Given the description of an element on the screen output the (x, y) to click on. 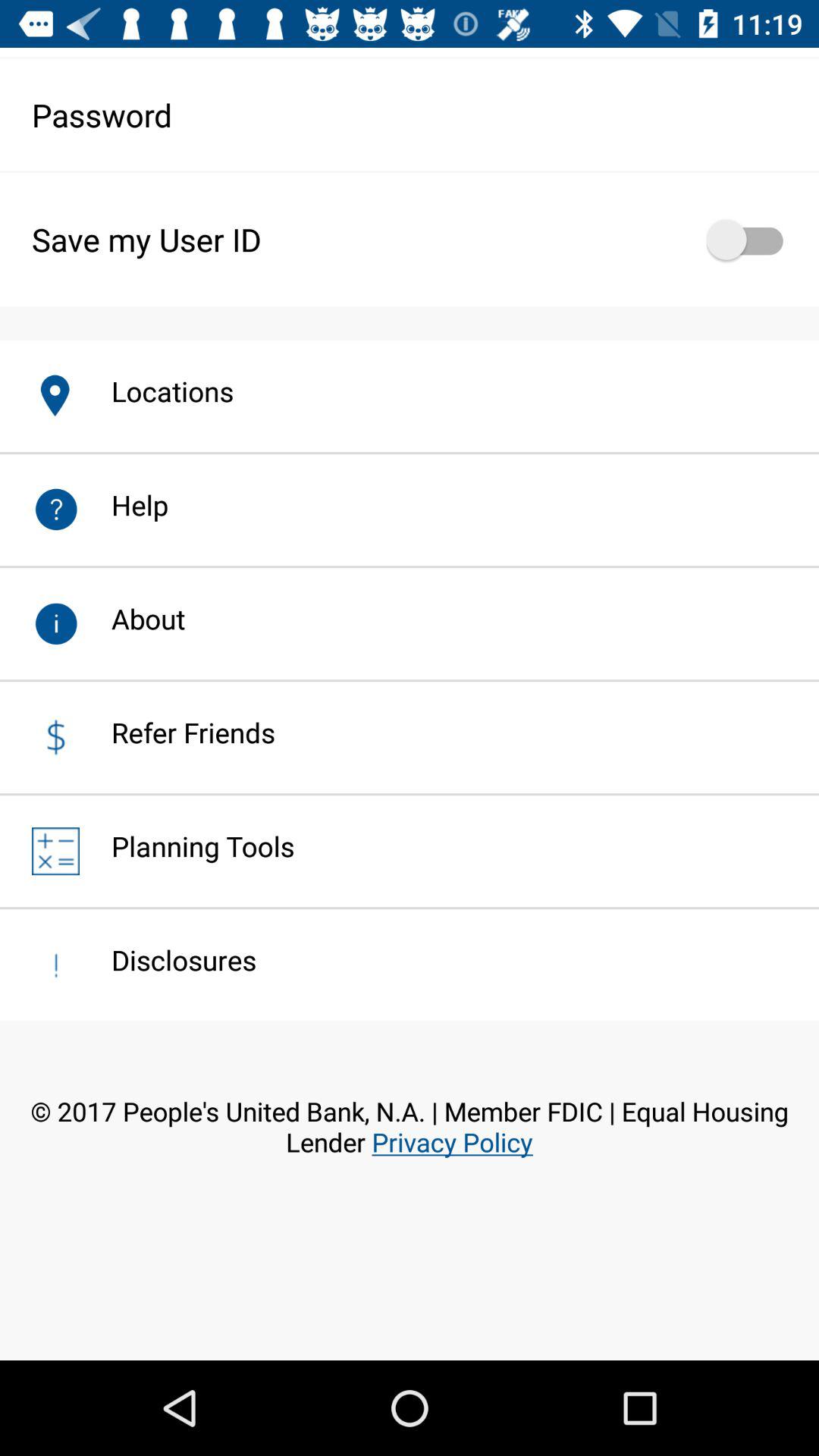
jump until 2017 people s item (409, 1151)
